Given the description of an element on the screen output the (x, y) to click on. 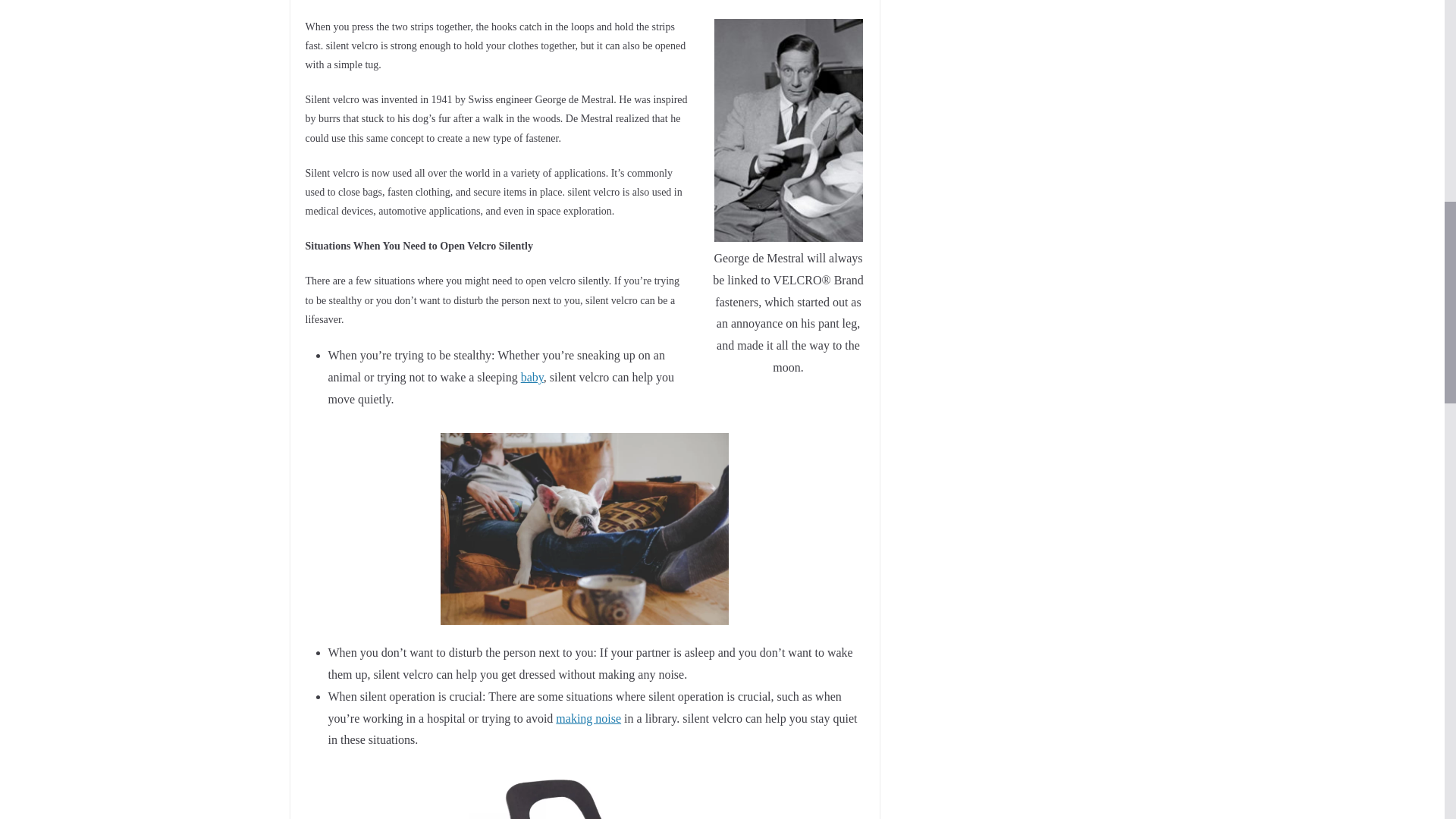
making noise (588, 717)
baby (532, 377)
